Given the description of an element on the screen output the (x, y) to click on. 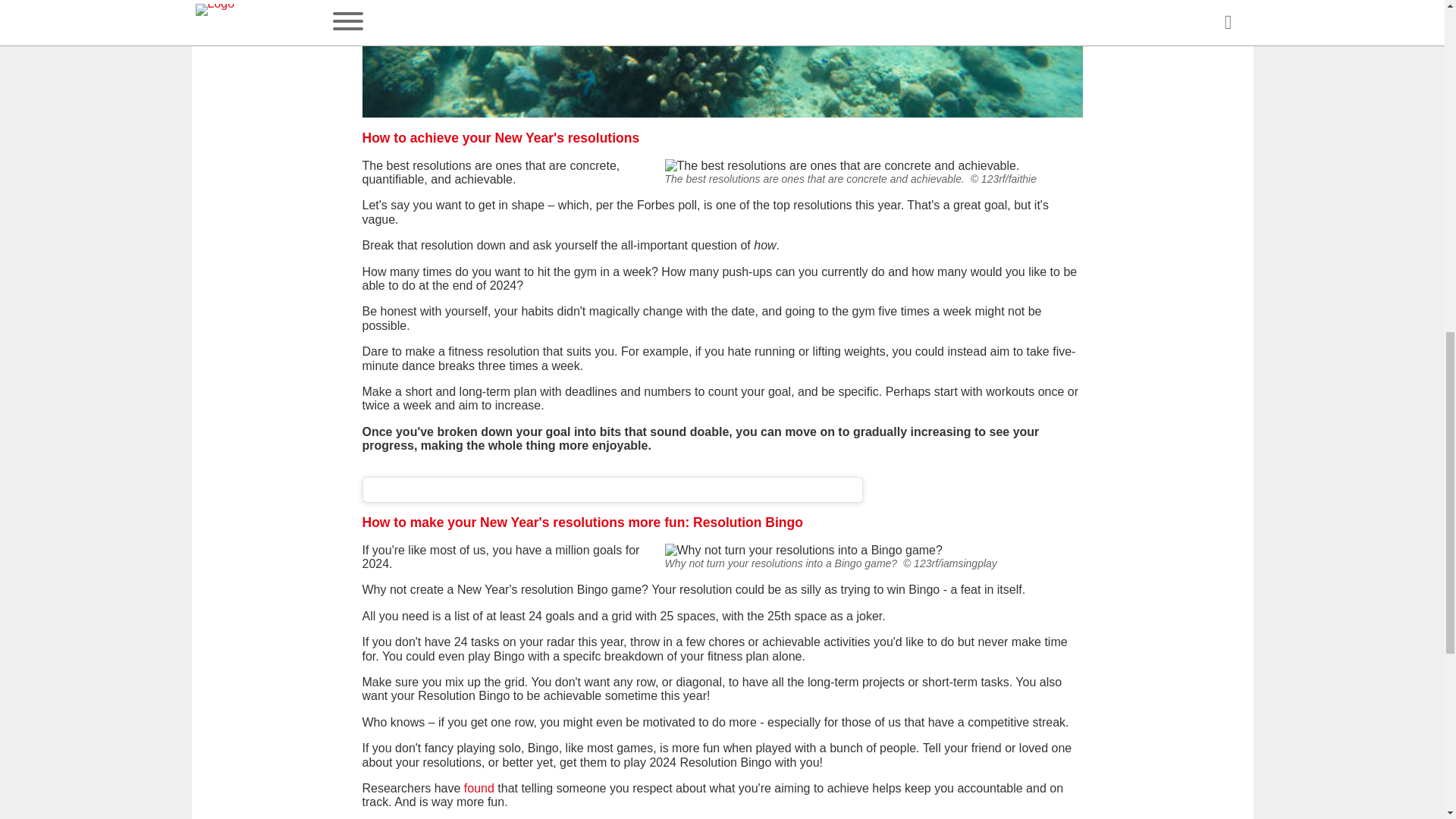
found (479, 788)
